Given the description of an element on the screen output the (x, y) to click on. 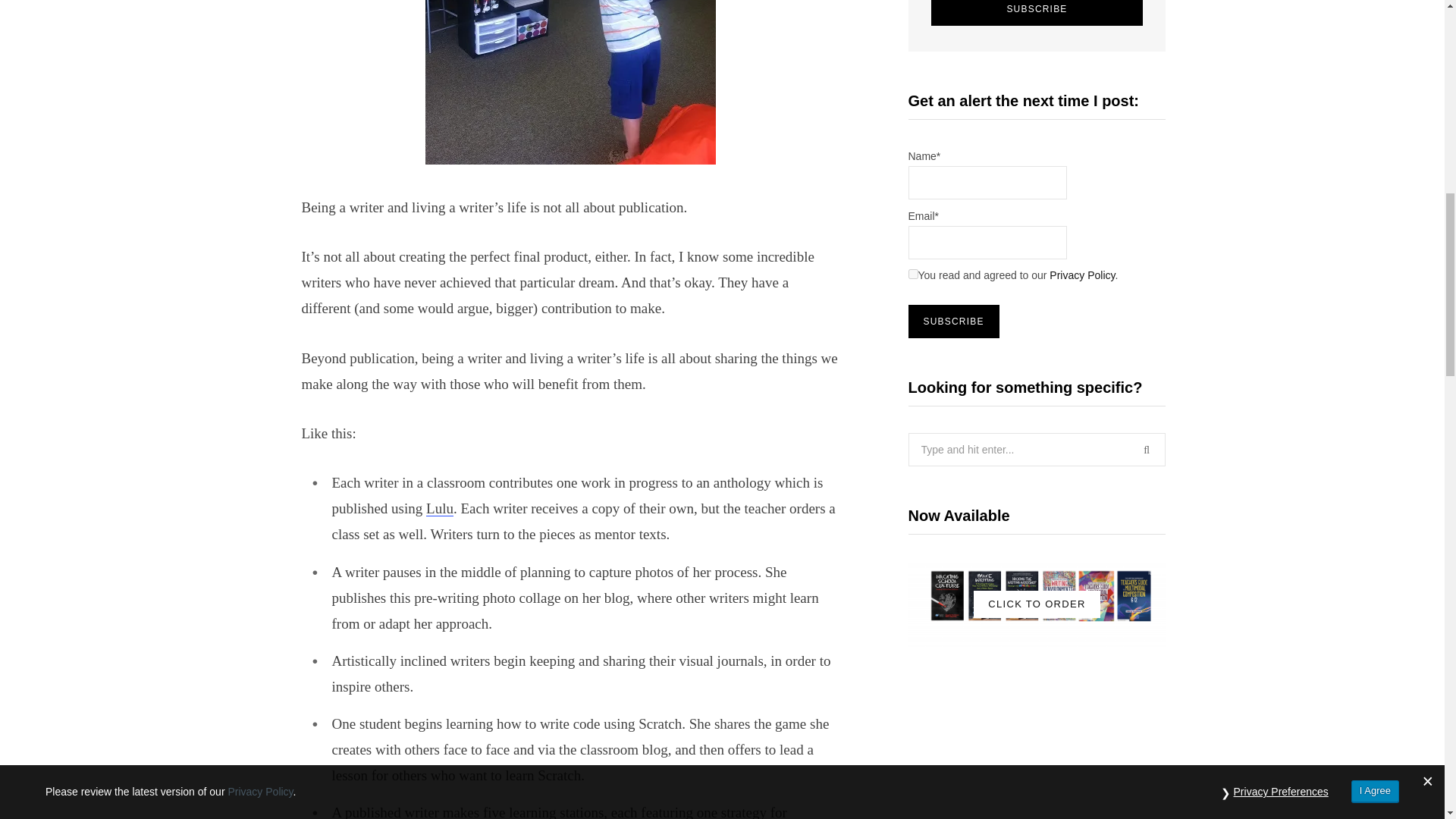
CLICK TO ORDER (1037, 604)
Subscribe (953, 321)
Subscribe (953, 321)
1 (913, 274)
Lulu (439, 508)
Subscribe (1036, 12)
Privacy Policy (1082, 275)
Subscribe (1036, 12)
